Given the description of an element on the screen output the (x, y) to click on. 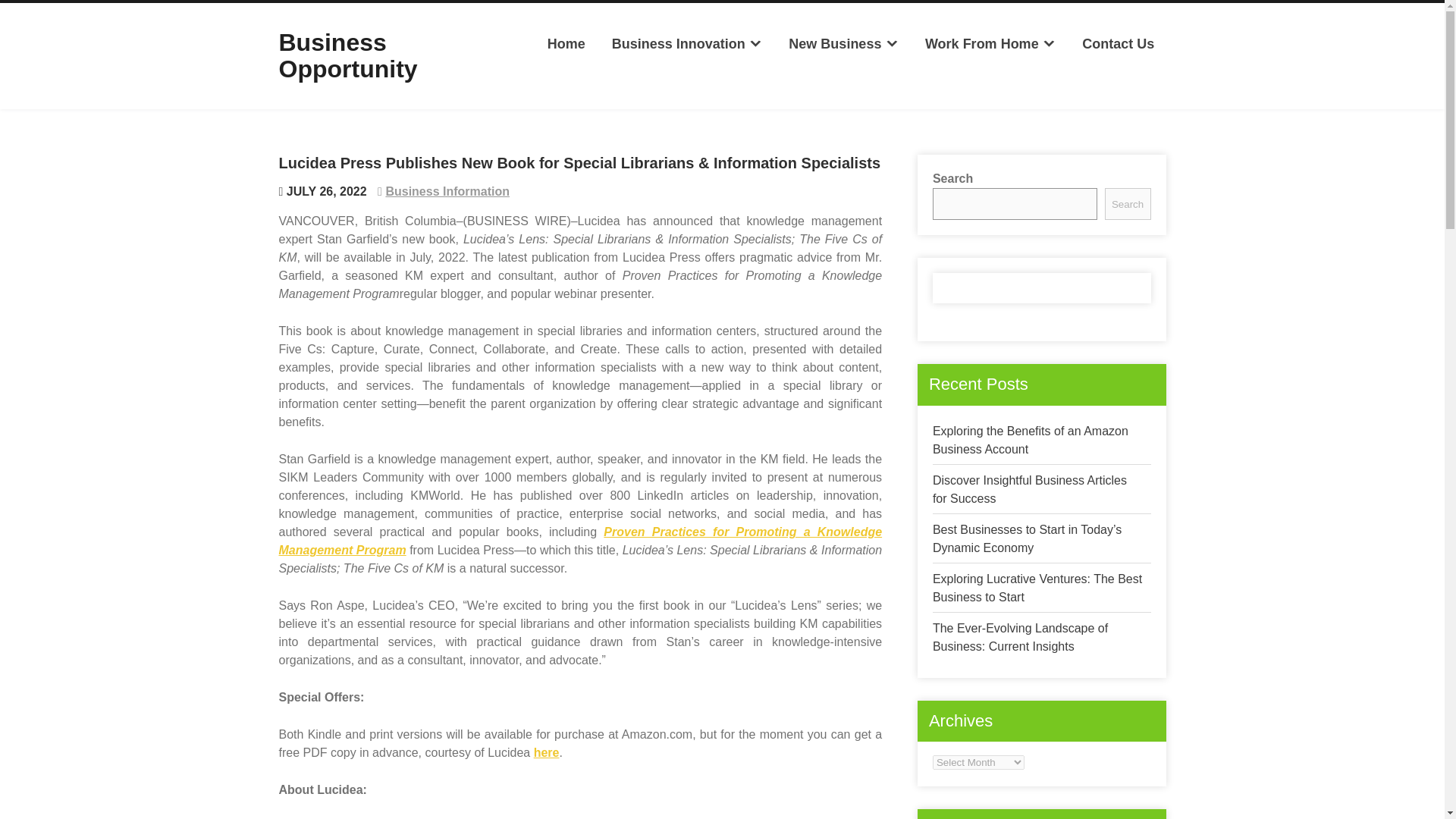
Search (1128, 204)
Contact Us (1118, 44)
Work From Home (990, 44)
The Ever-Evolving Landscape of Business: Current Insights (1020, 636)
Business Innovation (686, 44)
Exploring the Benefits of an Amazon Business Account (1030, 440)
Exploring Lucrative Ventures: The Best Business to Start (1037, 587)
New Business (843, 44)
here (546, 752)
Home (565, 44)
Business Information (447, 191)
Discover Insightful Business Articles for Success (1029, 489)
Business Opportunity (348, 55)
